Given the description of an element on the screen output the (x, y) to click on. 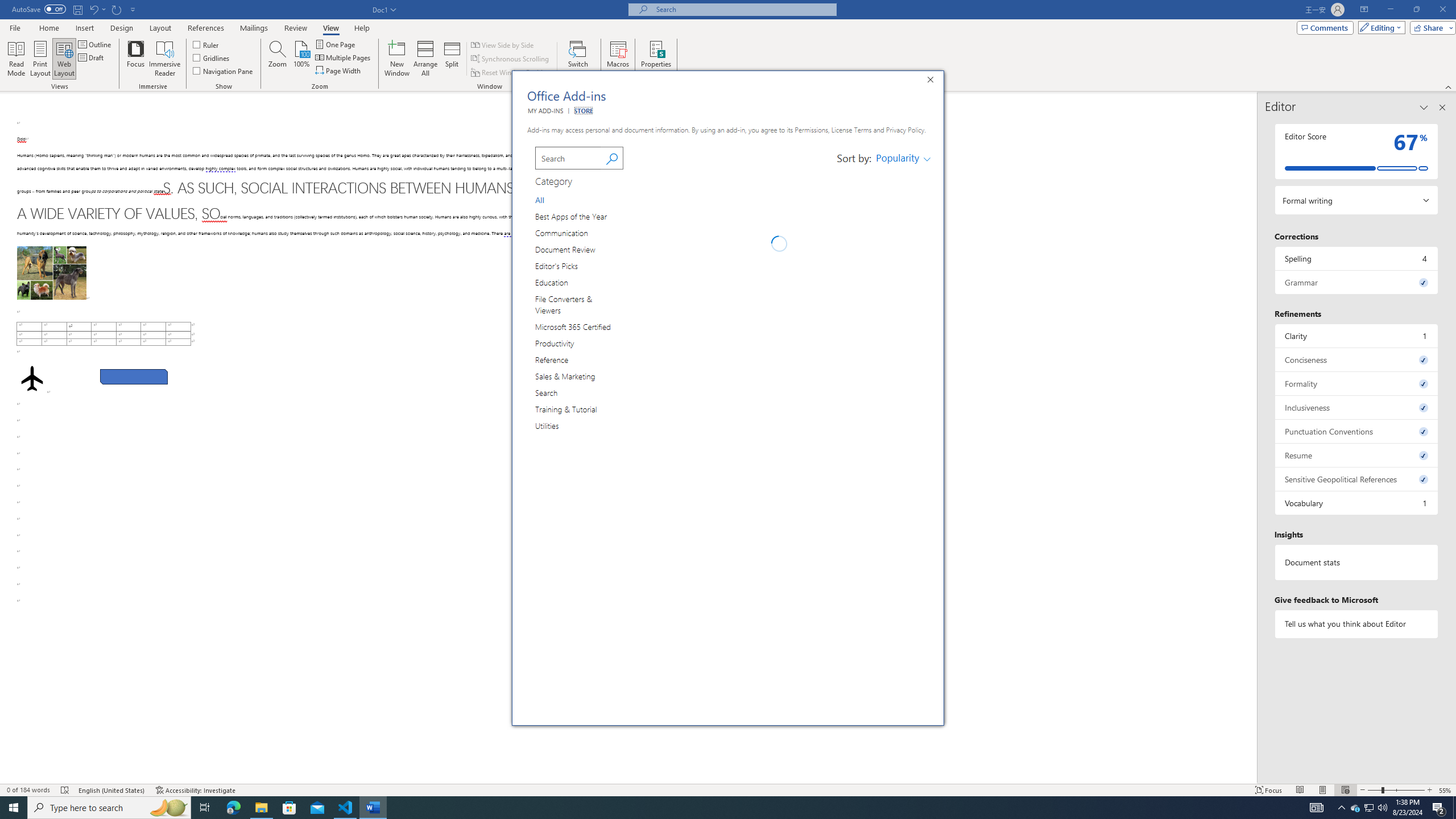
Rectangle: Diagonal Corners Snipped 2 (133, 376)
Add officeatwork | Designer for Office (902, 566)
MY ADD-INS (545, 110)
Repeat Paragraph Alignment (117, 9)
Document statistics (1356, 561)
Add officeatwork | Wizard for Office (902, 694)
Word Count 0 of 184 words (28, 790)
File Explorer - 1 running window (261, 807)
Tell us what you think about Editor (1356, 624)
Microsoft Dynamics Office Add-in icon (646, 440)
